Given the description of an element on the screen output the (x, y) to click on. 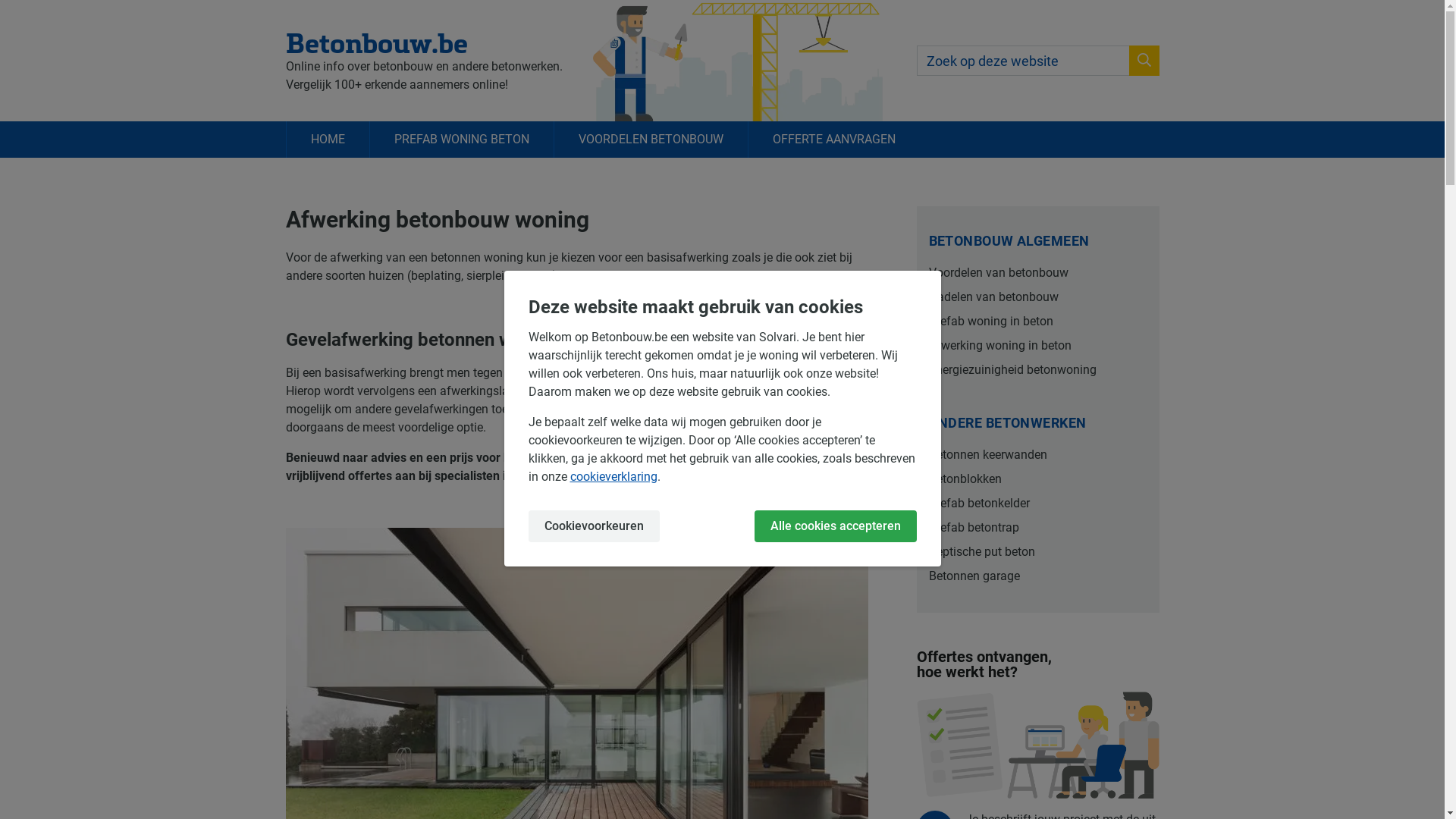
Nadelen van betonbouw Element type: text (1037, 297)
Energiezuinigheid betonwoning Element type: text (1037, 369)
HOME Element type: text (326, 139)
Alle cookies accepteren Element type: text (834, 526)
Prefab woning in beton Element type: text (1037, 321)
Prefab betonkelder Element type: text (1037, 503)
offertepagina Element type: text (663, 475)
Cookievoorkeuren Element type: text (592, 526)
Voordelen van betonbouw Element type: text (1037, 272)
Betonnen keerwanden Element type: text (1037, 454)
Afwerking woning in beton Element type: text (1037, 345)
OFFERTE AANVRAGEN Element type: text (833, 139)
Prefab betontrap Element type: text (1037, 527)
VOORDELEN BETONBOUW Element type: text (650, 139)
PREFAB WONING BETON Element type: text (460, 139)
Betonbouw.be Element type: text (423, 42)
Betonnen garage Element type: text (1037, 576)
cookieverklaring Element type: text (613, 476)
Betonblokken Element type: text (1037, 479)
Septische put beton Element type: text (1037, 551)
